Given the description of an element on the screen output the (x, y) to click on. 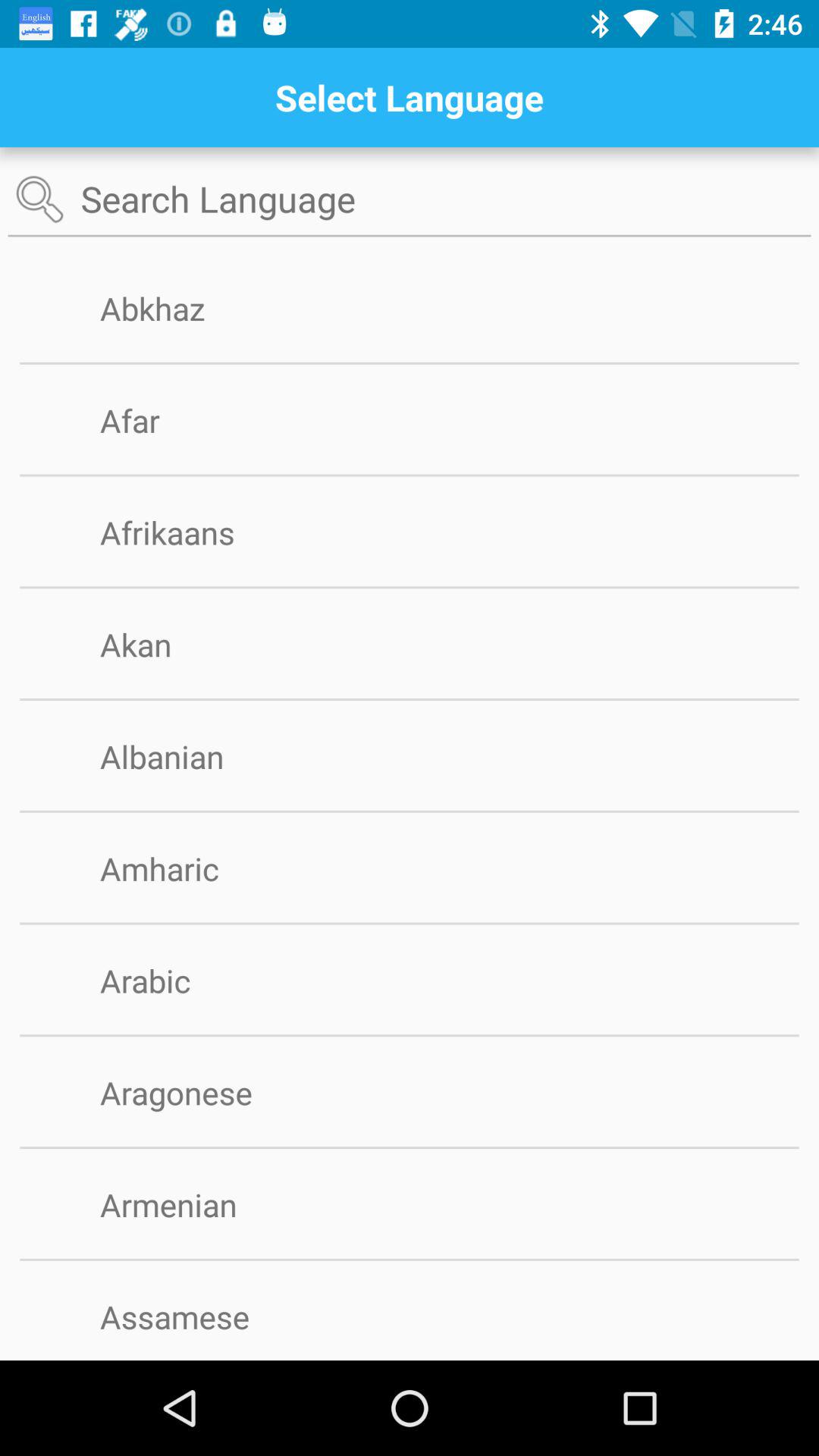
flip to abkhaz (176, 307)
